Given the description of an element on the screen output the (x, y) to click on. 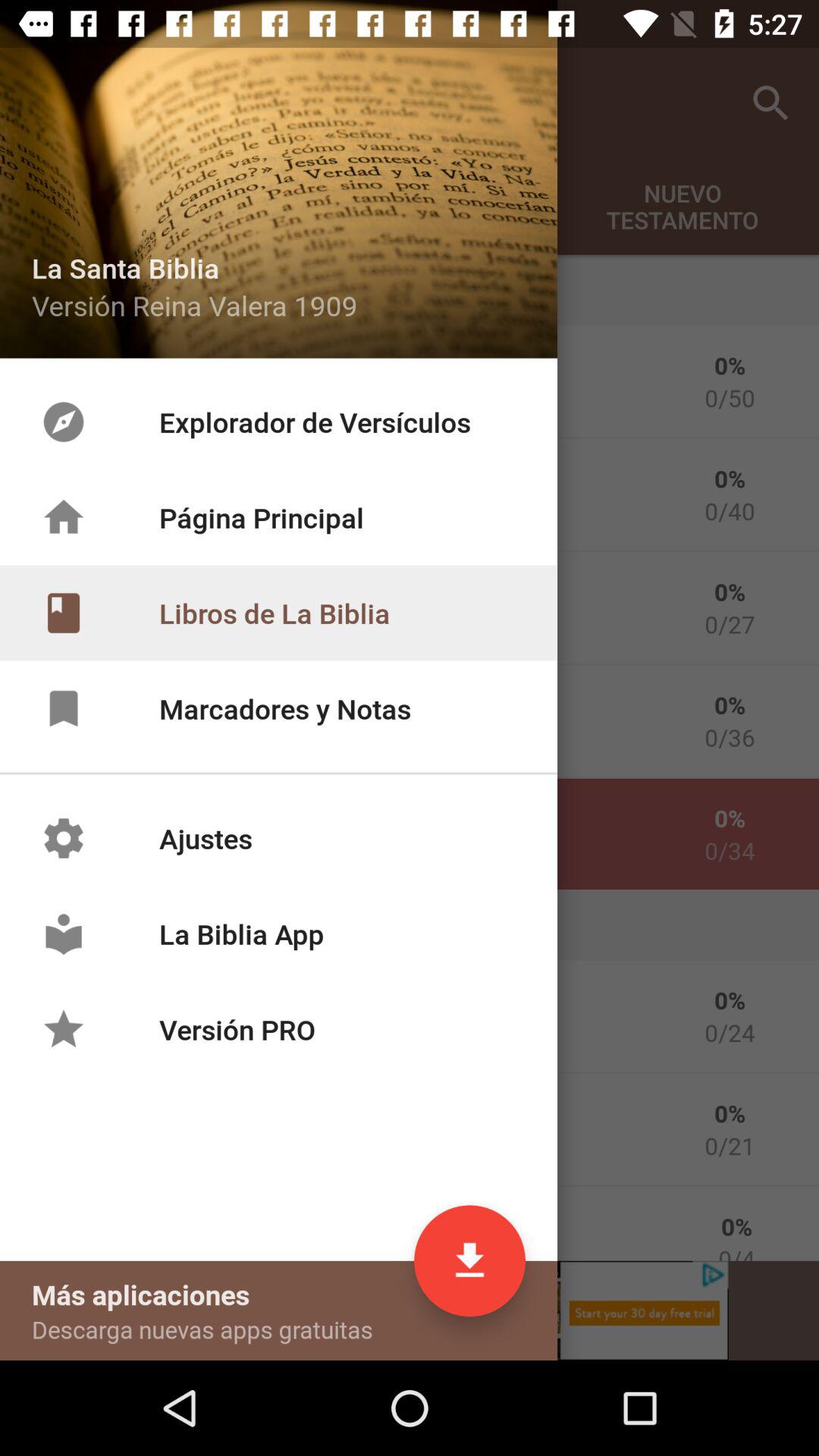
click on the settings icon which is left had side of the text ajustes (71, 834)
